Given the description of an element on the screen output the (x, y) to click on. 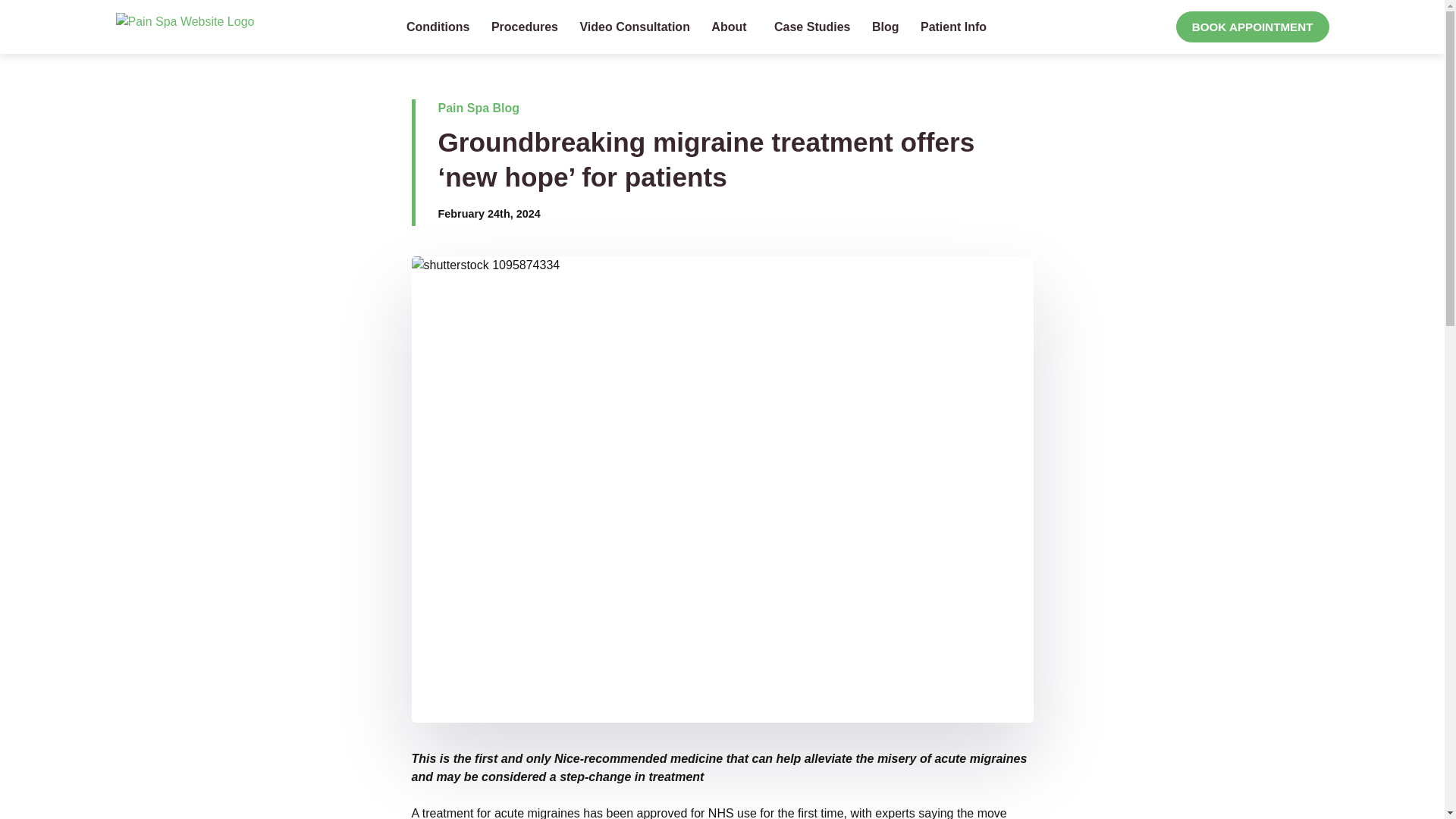
Video Consultation (634, 26)
Blog (885, 26)
About (731, 26)
Conditions (438, 26)
Procedures (524, 26)
Patient Info (956, 26)
BOOK APPOINTMENT (1252, 26)
Case Studies (812, 26)
